Given the description of an element on the screen output the (x, y) to click on. 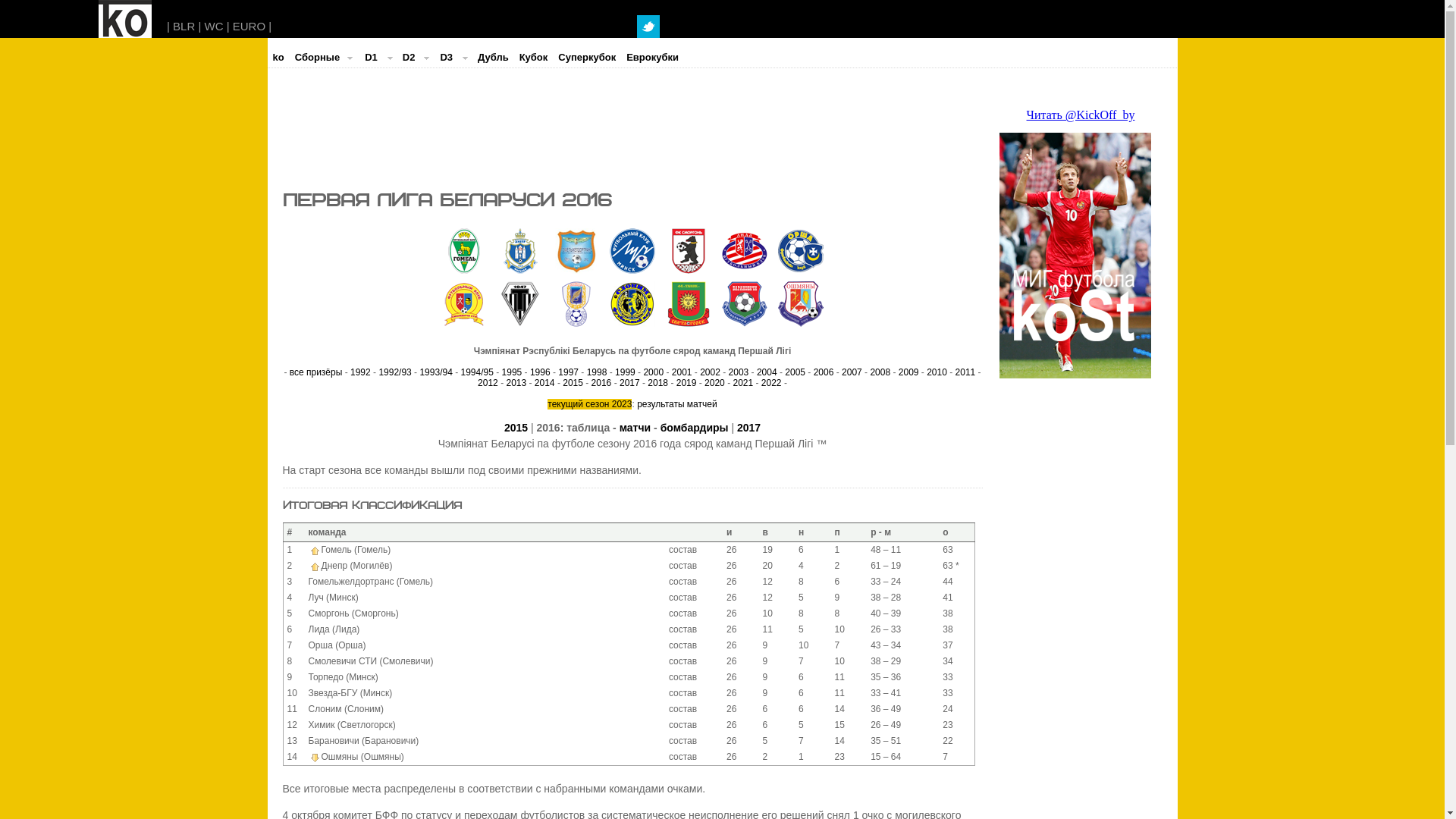
1994/95 Element type: text (477, 372)
2005 Element type: text (794, 372)
2020 Element type: text (714, 382)
2017 Element type: text (748, 427)
2015 Element type: text (515, 427)
2019 Element type: text (686, 382)
2011 Element type: text (965, 372)
2006 Element type: text (823, 372)
1998 Element type: text (596, 372)
EURO Element type: text (248, 25)
2012 Element type: text (487, 382)
2002 Element type: text (709, 372)
2017 Element type: text (629, 382)
ko Element type: text (277, 57)
2018 Element type: text (657, 382)
2010 Element type: text (936, 372)
1996 Element type: text (540, 372)
2001 Element type: text (681, 372)
2022 Element type: text (771, 382)
WC Element type: text (213, 25)
2013 Element type: text (515, 382)
2000 Element type: text (653, 372)
2003 Element type: text (738, 372)
2004 Element type: text (766, 372)
1995 Element type: text (512, 372)
2014 Element type: text (544, 382)
BLR Element type: text (183, 25)
2008 Element type: text (879, 372)
2007 Element type: text (851, 372)
2015 Element type: text (572, 382)
2009 Element type: text (908, 372)
1993/94 Element type: text (435, 372)
1992 Element type: text (360, 372)
1999 Element type: text (625, 372)
1997 Element type: text (568, 372)
1992/93 Element type: text (394, 372)
2016 Element type: text (601, 382)
2021 Element type: text (742, 382)
